Given the description of an element on the screen output the (x, y) to click on. 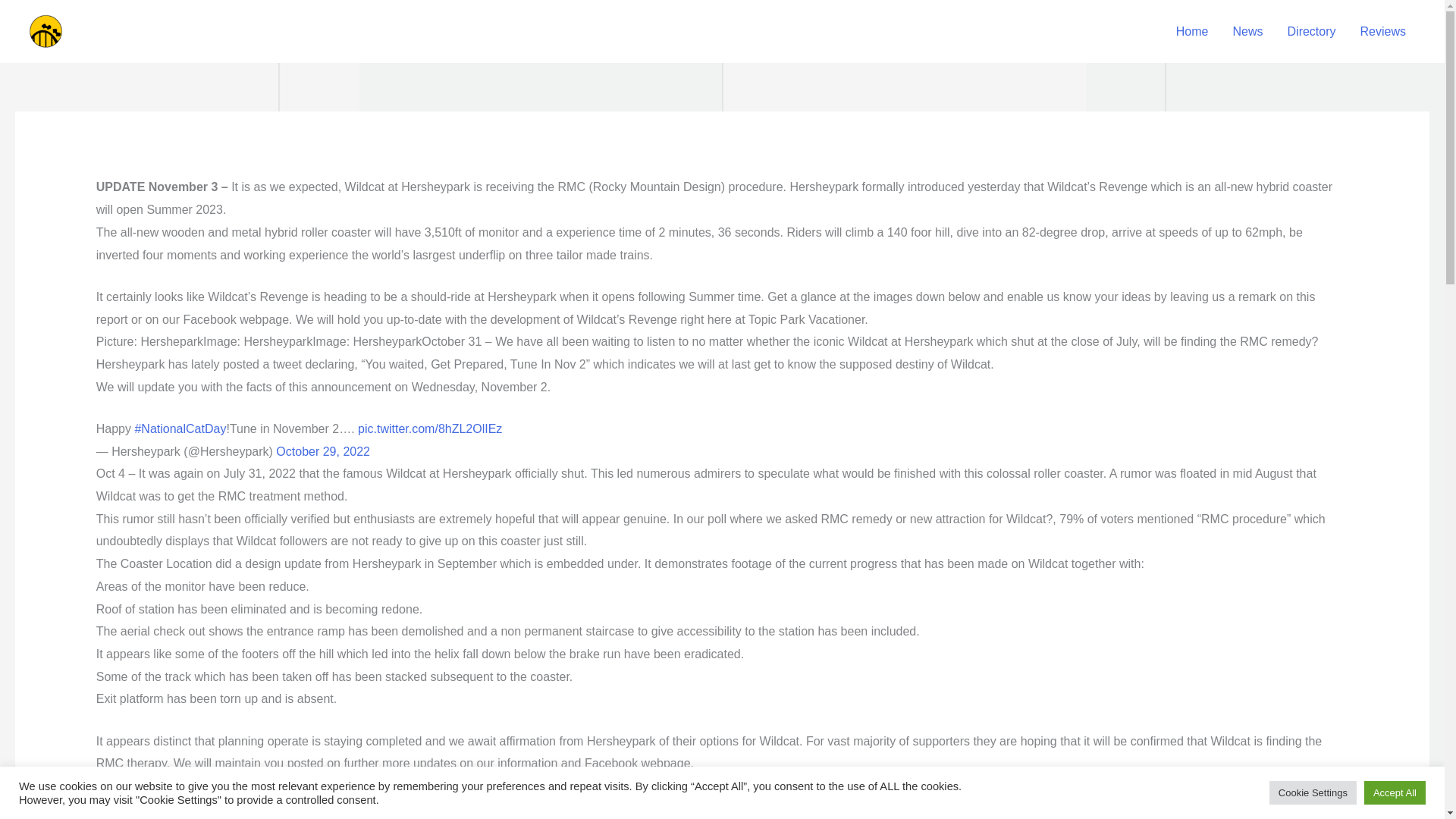
Directory (1311, 30)
News (1248, 30)
Accept All (1394, 792)
Cookie Settings (1312, 792)
Home (1192, 30)
Reviews (1383, 30)
October 29, 2022 (322, 451)
